Given the description of an element on the screen output the (x, y) to click on. 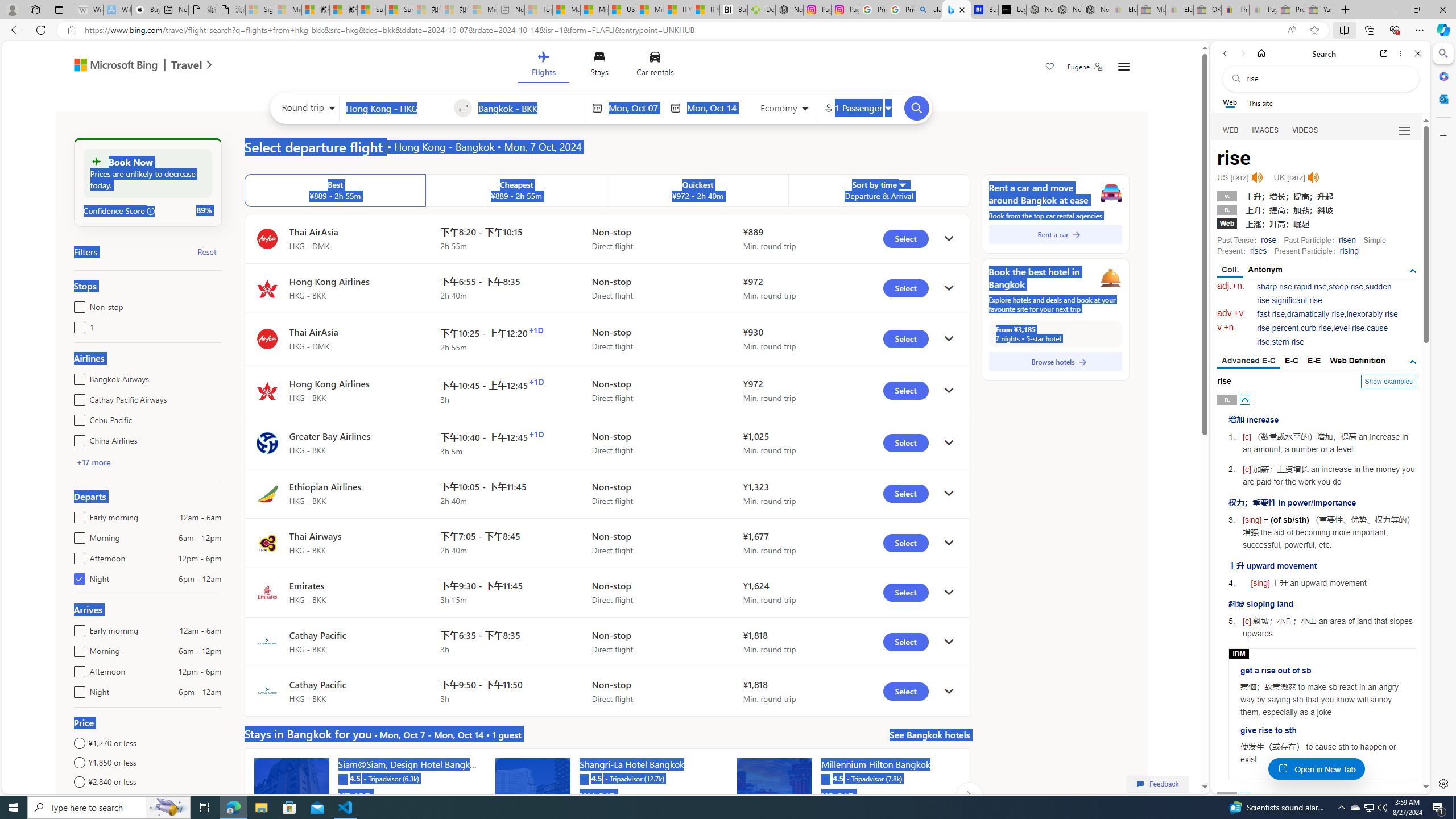
Travel (186, 65)
Class: msft-bing-logo msft-bing-logo-desktop (112, 64)
Cebu Pacific (76, 417)
US Heat Deaths Soared To Record High Last Year (621, 9)
Microsoft Bing Travel - Flights from Hong Kong to Bangkok (956, 9)
alabama high school quarterback dies - Search (928, 9)
sudden rise (1323, 293)
Class: msft-travel-logo (186, 64)
Non-stop (76, 304)
E-E (1314, 360)
This site scope (1259, 102)
